Given the description of an element on the screen output the (x, y) to click on. 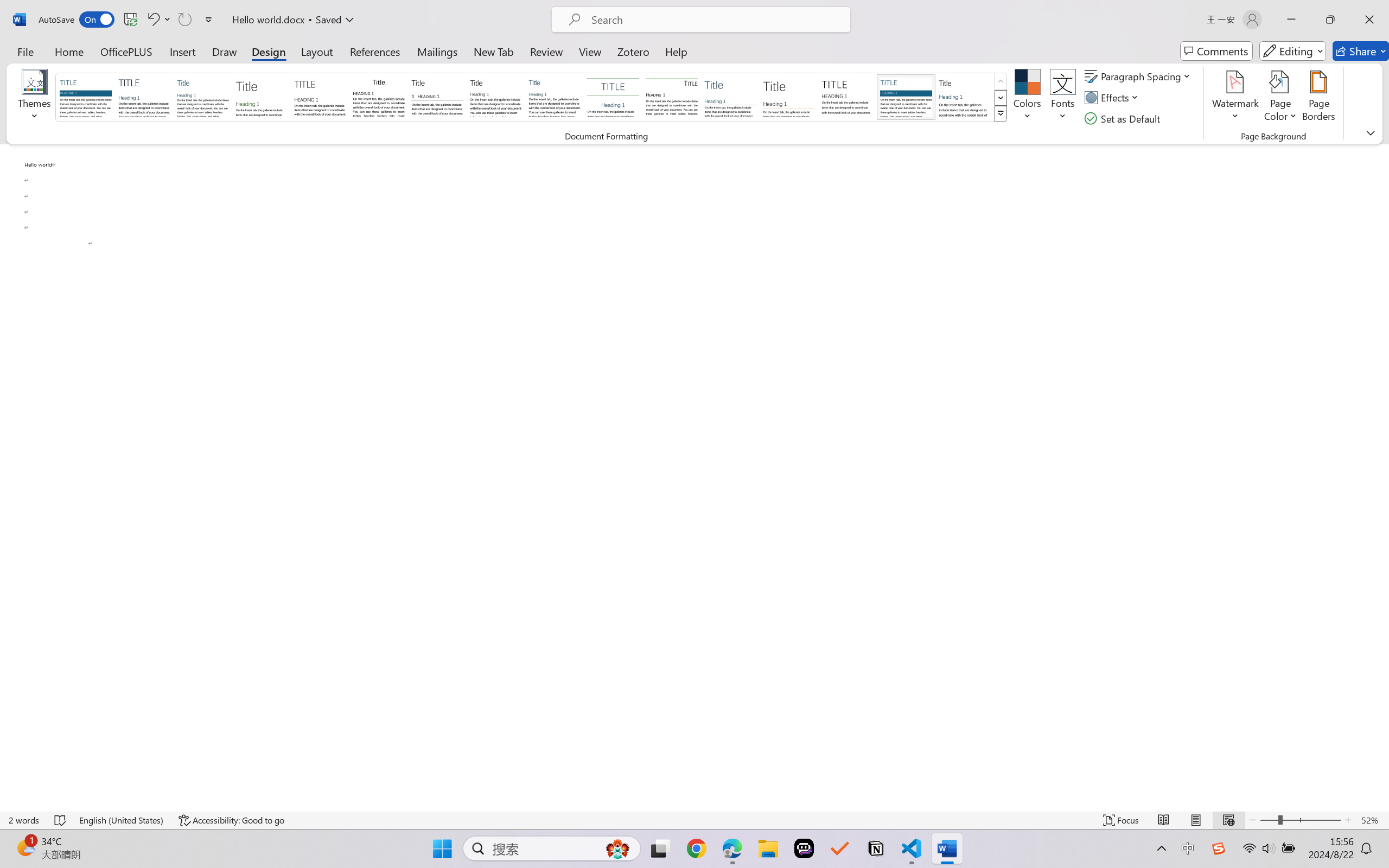
Zotero (632, 51)
Lines (Stylish) (788, 96)
Class: Image (1218, 847)
Page Color (1280, 97)
Can't Repeat (184, 19)
View (589, 51)
Zoom In (1348, 819)
Undo Apply Quick Style Set (152, 19)
Colors (1027, 97)
Word Count 2 words (23, 819)
Paragraph Spacing (1139, 75)
New Tab (493, 51)
Black & White (Classic) (379, 96)
Basic (Simple) (202, 96)
Read Mode (1163, 819)
